Given the description of an element on the screen output the (x, y) to click on. 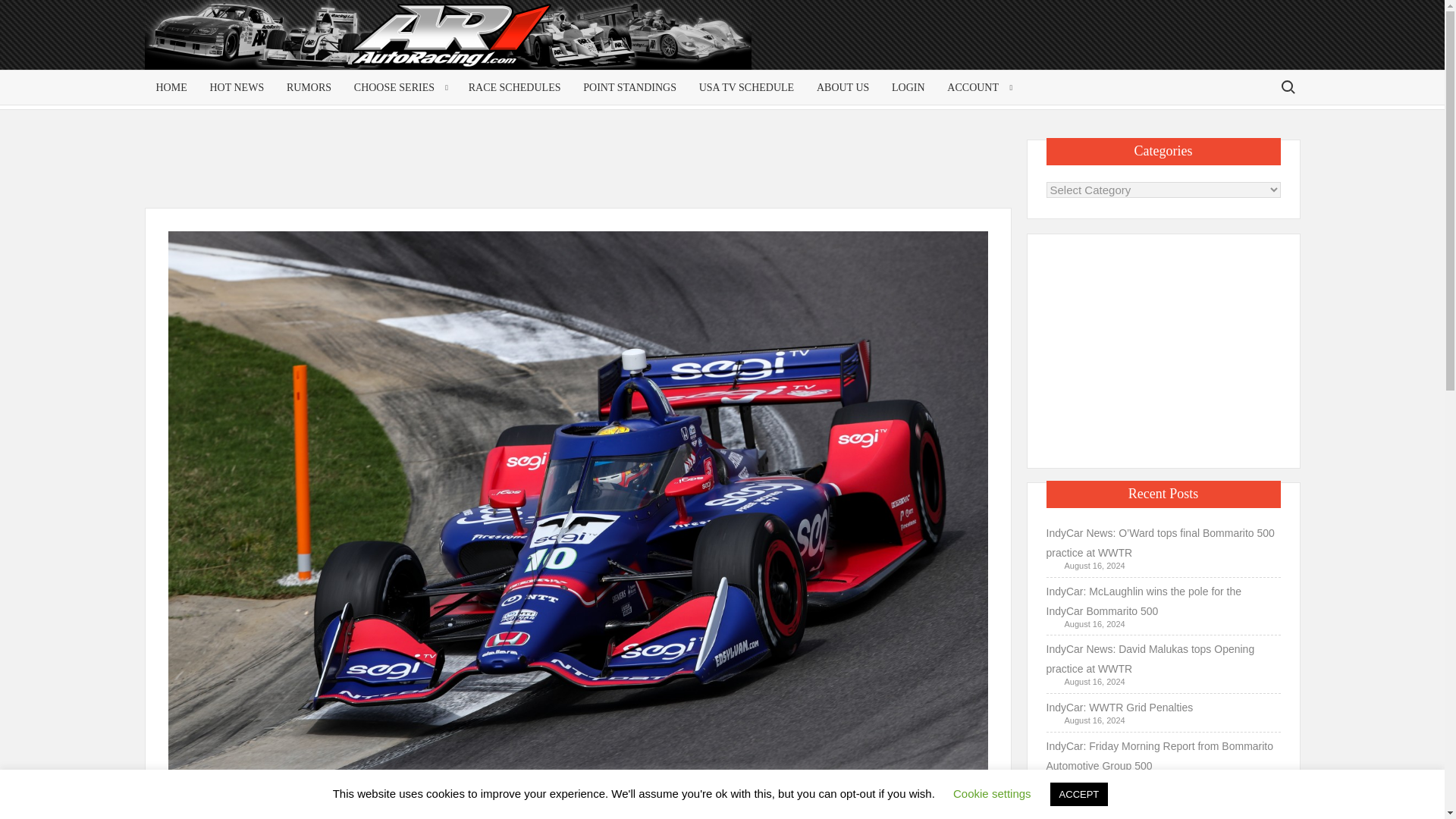
AUTORACING1.COM (289, 40)
Advertisement (1178, 46)
Advertisement (1162, 348)
RUMORS (308, 87)
Advertisement (580, 173)
HOME (171, 87)
HOT NEWS (236, 87)
CHOOSE SERIES (399, 87)
